Given the description of an element on the screen output the (x, y) to click on. 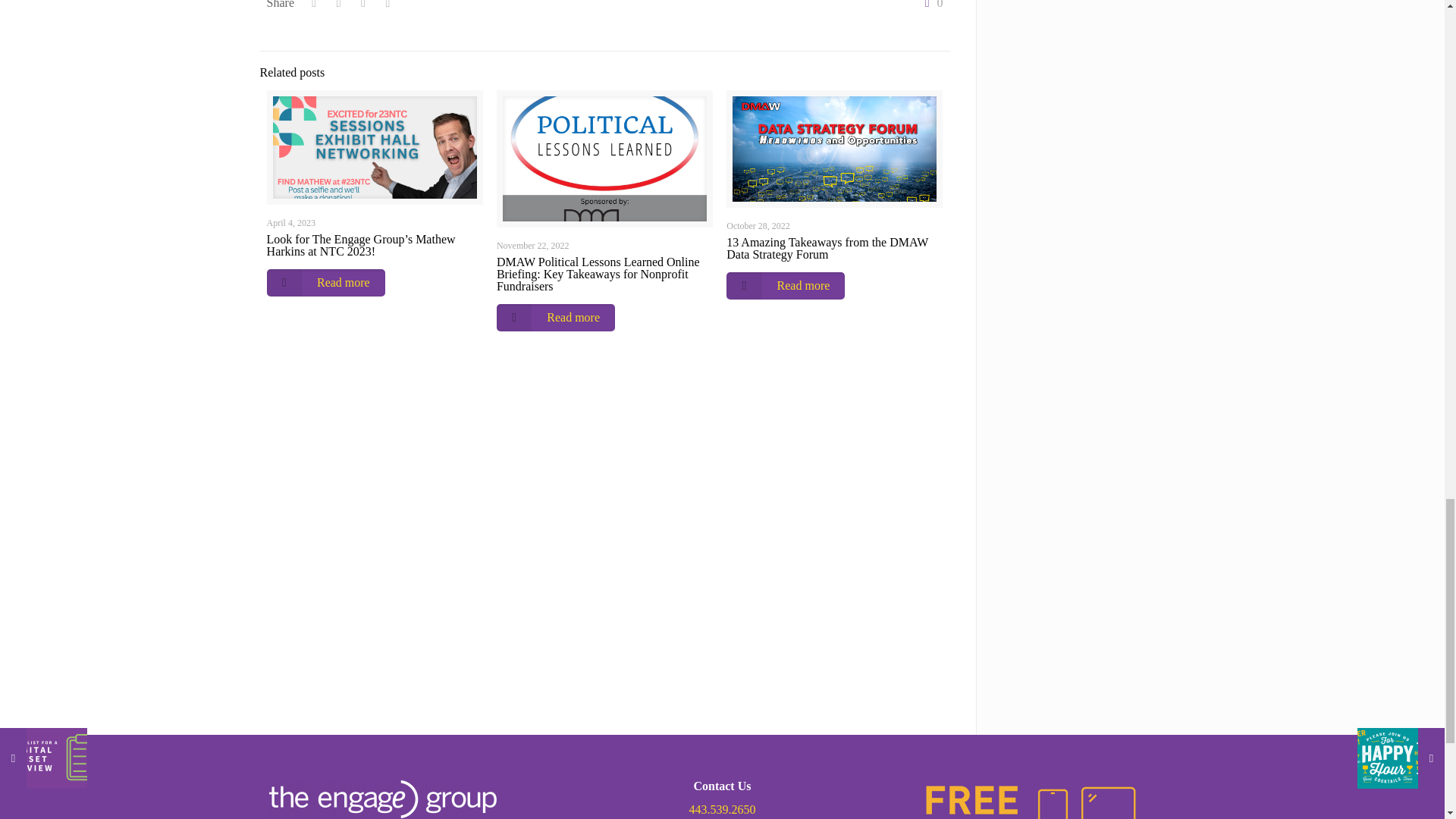
Read more (325, 282)
Read more (785, 285)
Read more (555, 317)
13 Amazing Takeaways from the DMAW Data Strategy Forum (827, 248)
0 (930, 4)
